Given the description of an element on the screen output the (x, y) to click on. 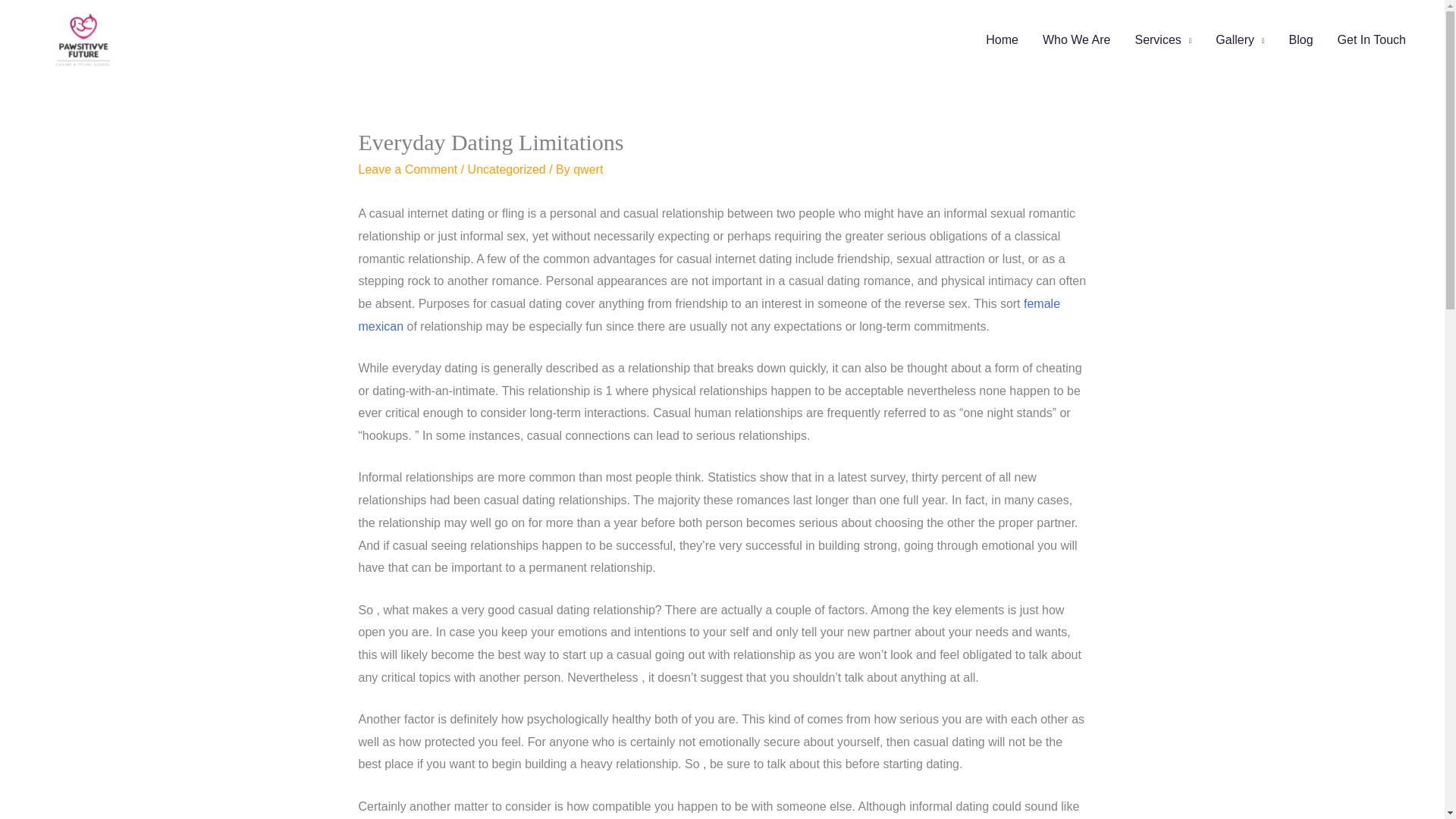
female mexican (708, 314)
Services (1163, 39)
Get In Touch (1371, 39)
Gallery (1240, 39)
qwert (587, 169)
Who We Are (1076, 39)
Home (1002, 39)
Blog (1300, 39)
View all posts by qwert (587, 169)
Leave a Comment (407, 169)
Uncategorized (506, 169)
